Given the description of an element on the screen output the (x, y) to click on. 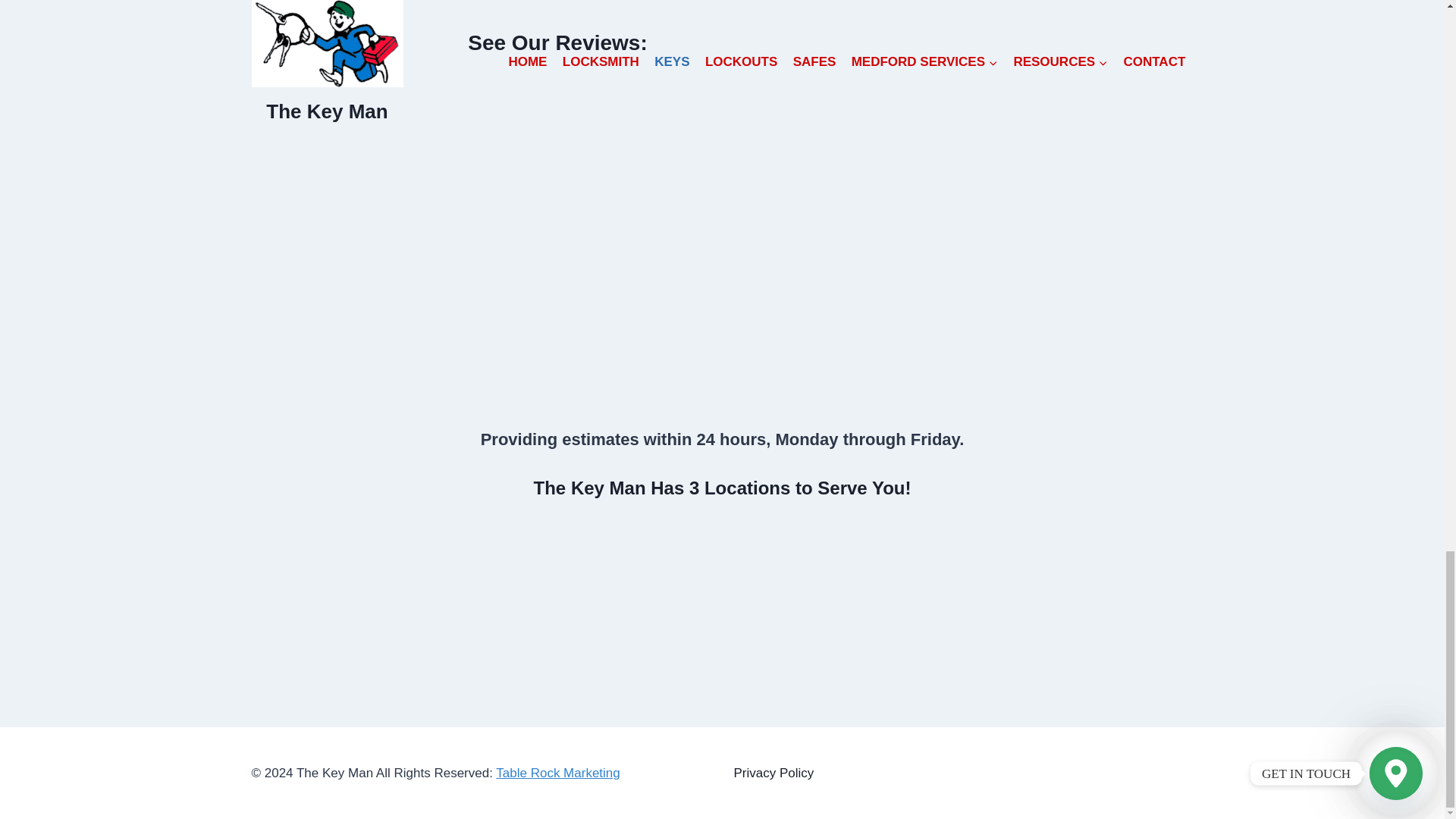
Table Rock Marketing (558, 772)
Privacy Policy (773, 772)
